Given the description of an element on the screen output the (x, y) to click on. 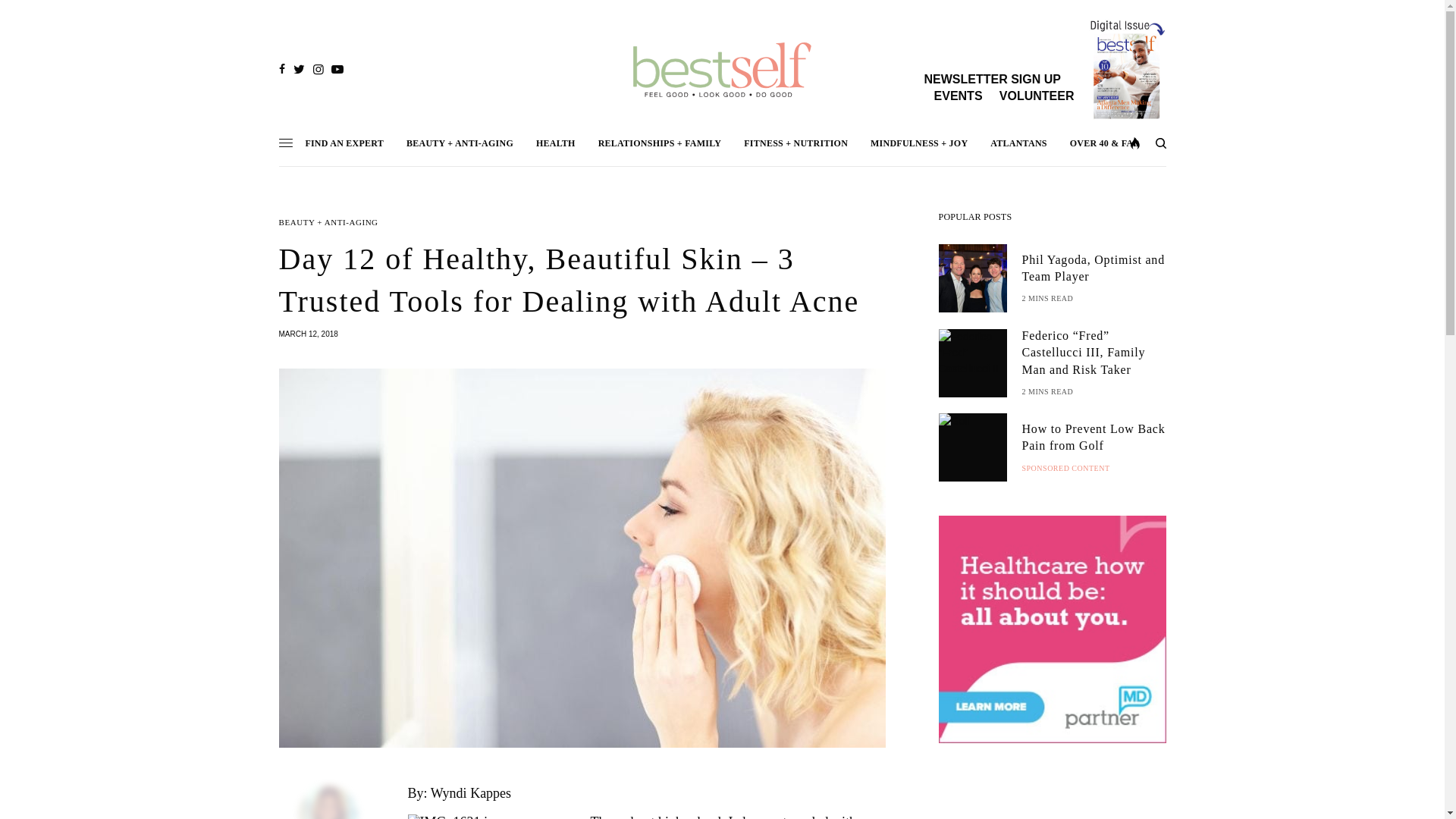
FIND AN EXPERT (344, 143)
Phil Yagoda, Optimist and Team Player (1094, 268)
EVENTS (958, 95)
VOLUNTEER (1036, 95)
Best Self Atlanta (721, 69)
ATLANTANS (1018, 143)
NEWSLETTER SIGN UP (991, 78)
How to Prevent Low Back Pain from Golf (1094, 437)
